Given the description of an element on the screen output the (x, y) to click on. 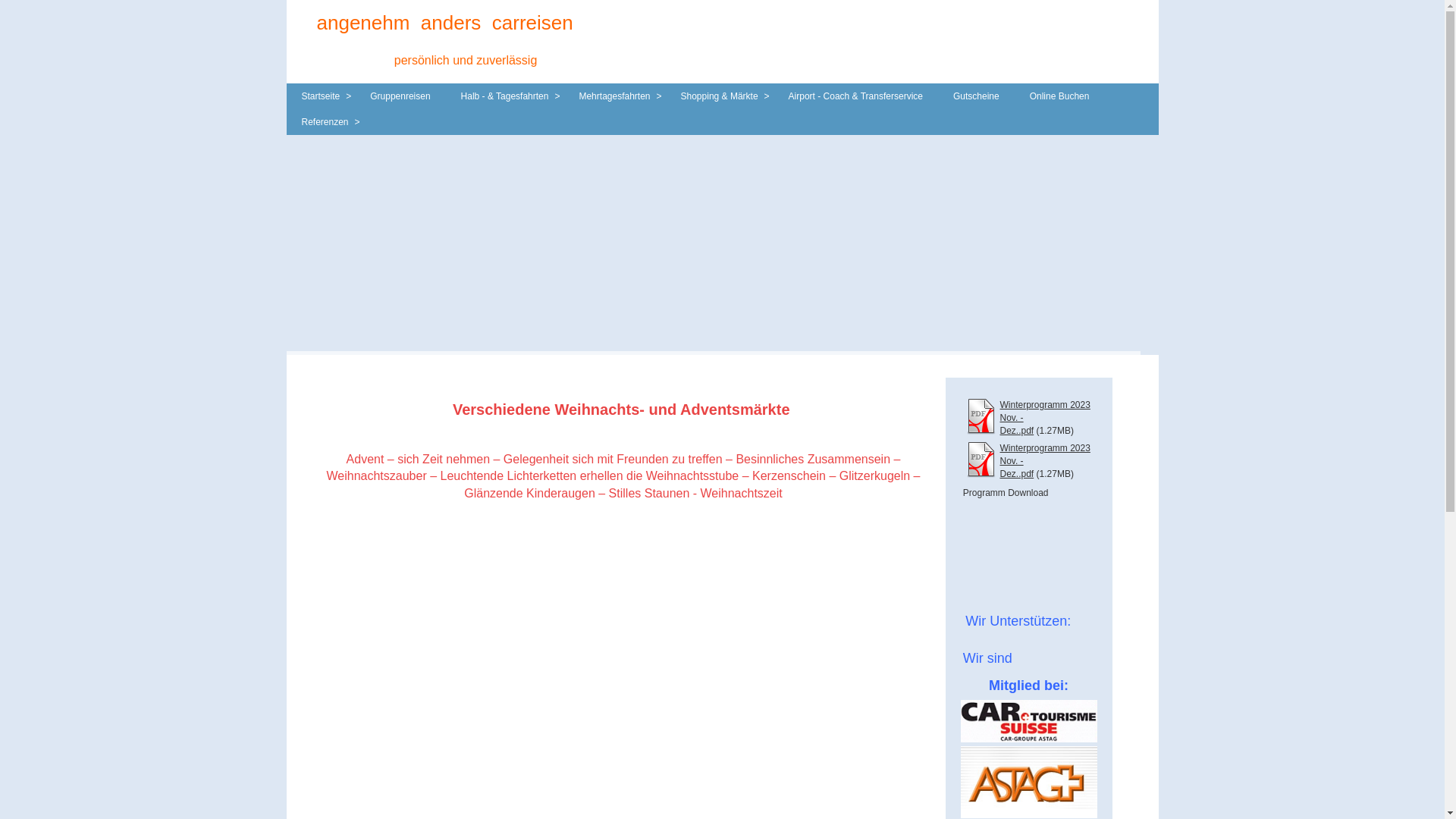
Online Buchen Element type: text (1059, 96)
Referenzen Element type: text (325, 121)
Gruppenreisen Element type: text (399, 96)
Mehrtagesfahrten Element type: text (614, 96)
Winterprogramm 2023 Nov. - Dez..pdf Element type: text (1044, 417)
Startseite Element type: text (320, 96)
Winterprogramm 2023 Nov. - Dez..pdf Element type: text (1044, 460)
Halb - & Tagesfahrten Element type: text (504, 96)
Airport - Coach & Transferservice Element type: text (855, 96)
Gutscheine Element type: text (976, 96)
